Given the description of an element on the screen output the (x, y) to click on. 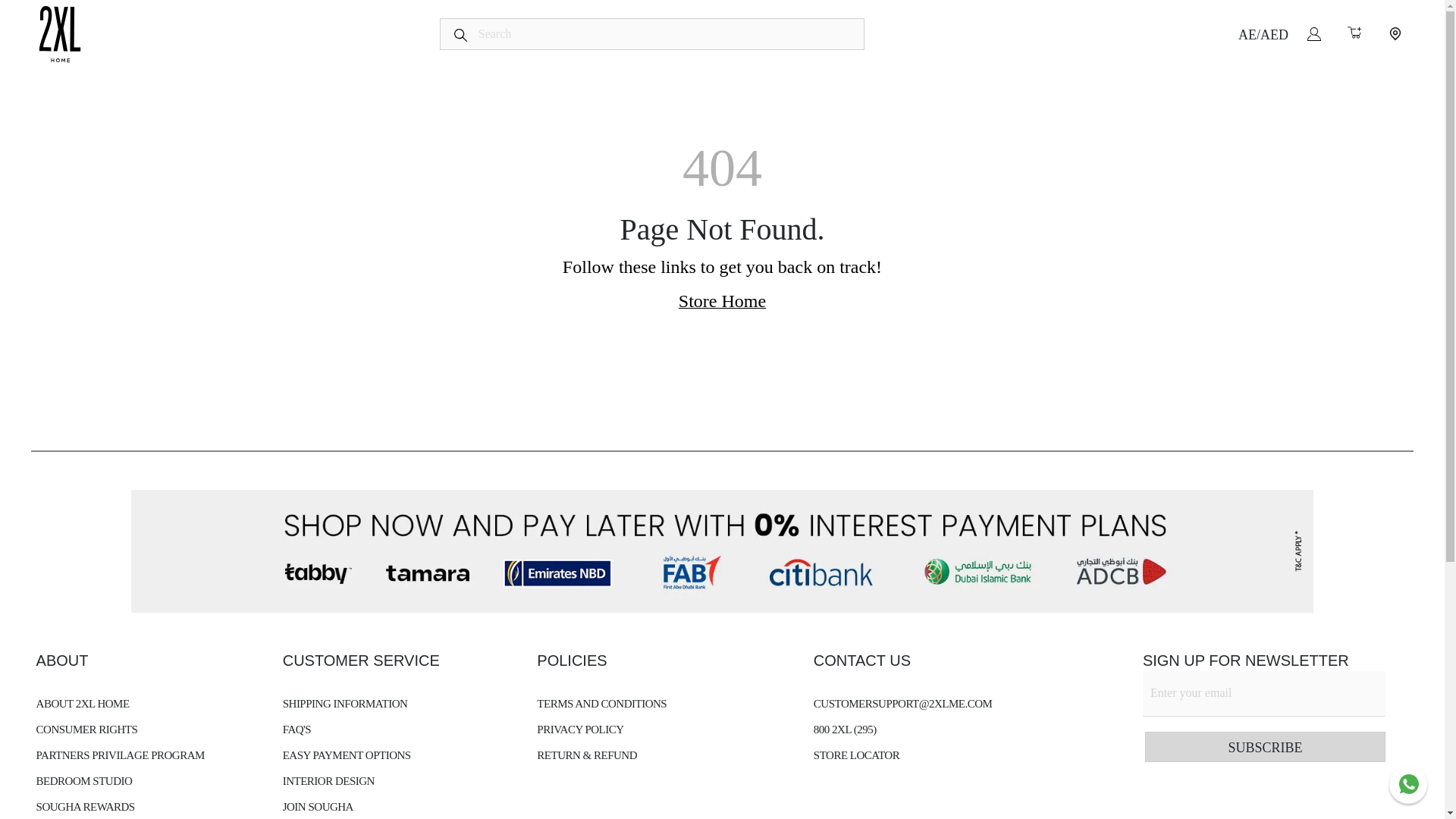
FURNITURE (427, 16)
Buy Now Pay Later (534, 17)
Join Sougha Rewards (1343, 17)
Subscribe (1265, 747)
Sign In (1313, 33)
